Given the description of an element on the screen output the (x, y) to click on. 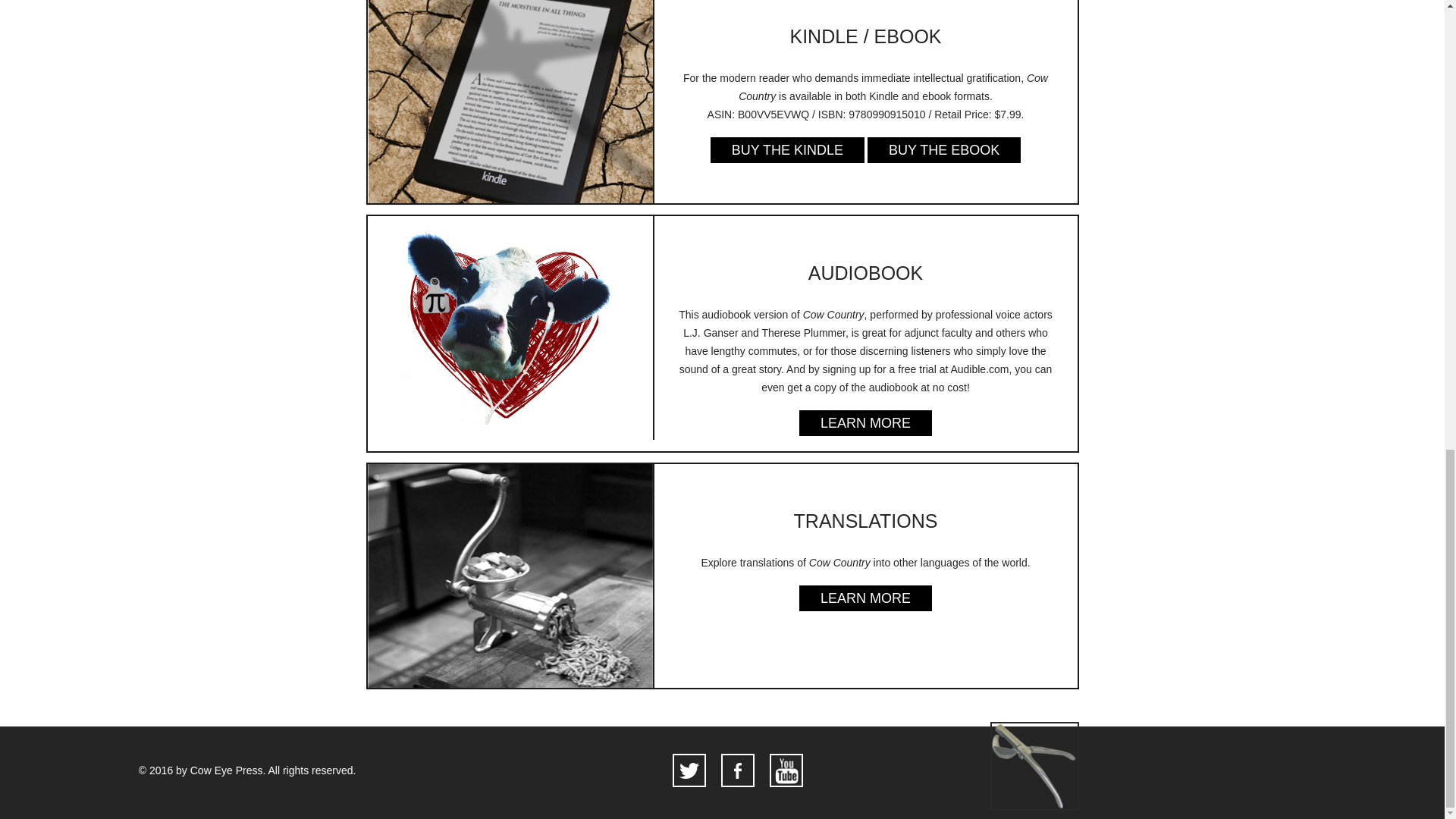
BUY THE KINDLE (787, 149)
LEARN MORE (865, 422)
youtube (786, 770)
LEARN MORE (865, 597)
BUY THE EBOOK (943, 149)
facebook (737, 770)
twitter (689, 770)
